Given the description of an element on the screen output the (x, y) to click on. 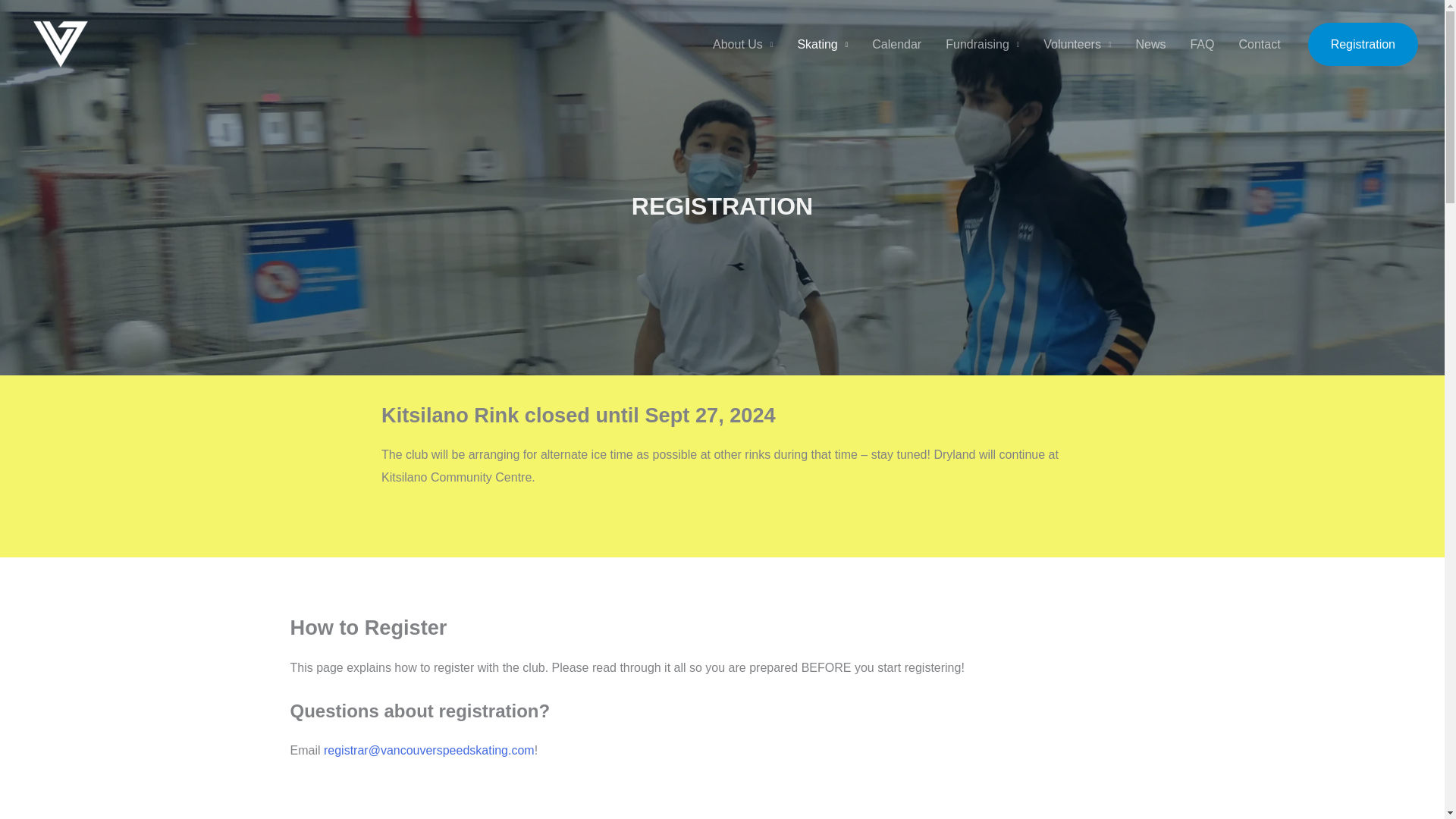
News (1149, 44)
Volunteers (1076, 44)
About Us (742, 44)
Contact (1258, 44)
Fundraising (981, 44)
Registration (1362, 44)
Calendar (896, 44)
Skating (822, 44)
FAQ (1201, 44)
